Given the description of an element on the screen output the (x, y) to click on. 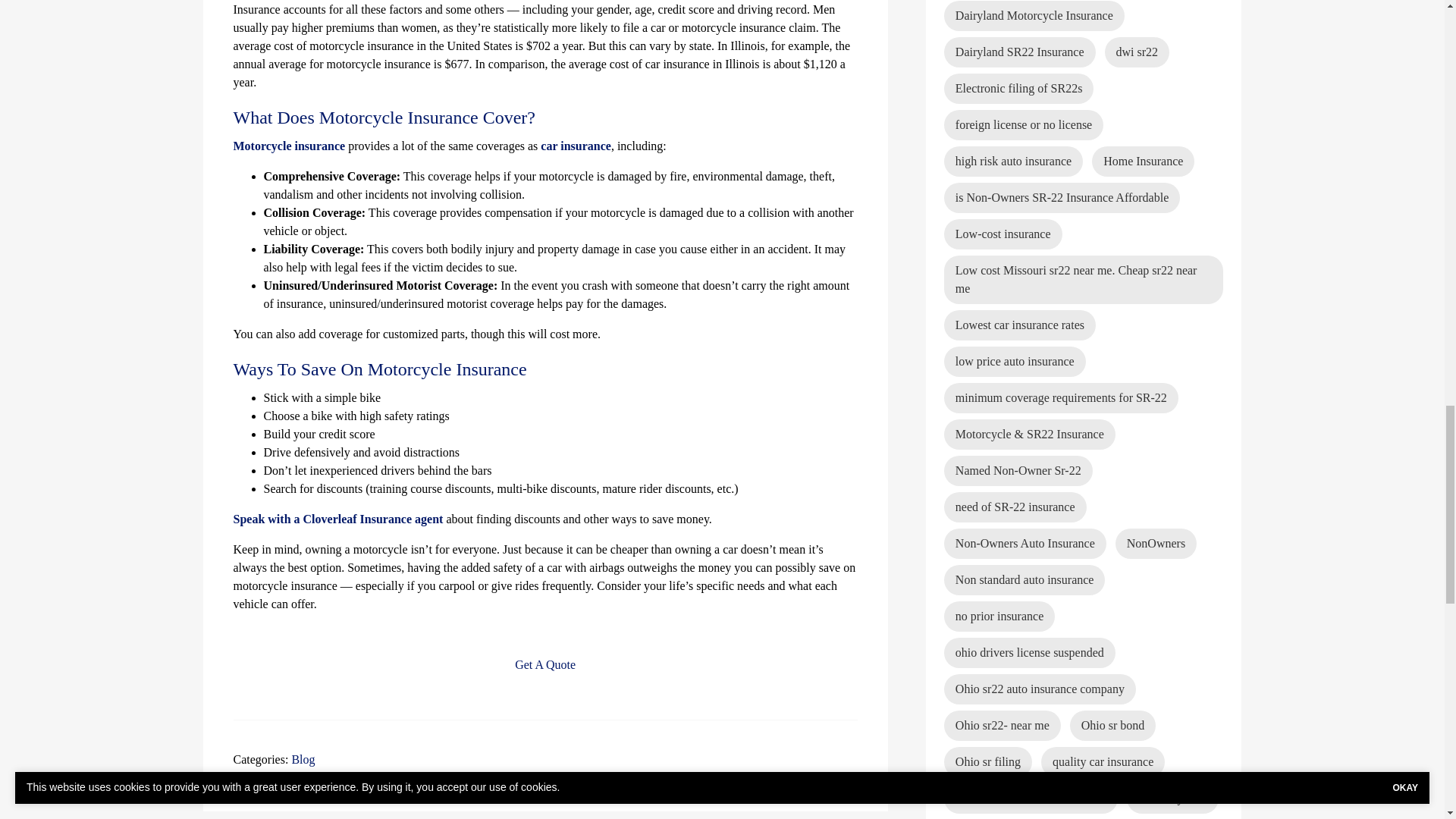
Blog (302, 758)
Motorcycle insurance (289, 145)
car insurance (575, 145)
Get A Quote (545, 664)
Speak with a Cloverleaf Insurance agent (338, 518)
